Given the description of an element on the screen output the (x, y) to click on. 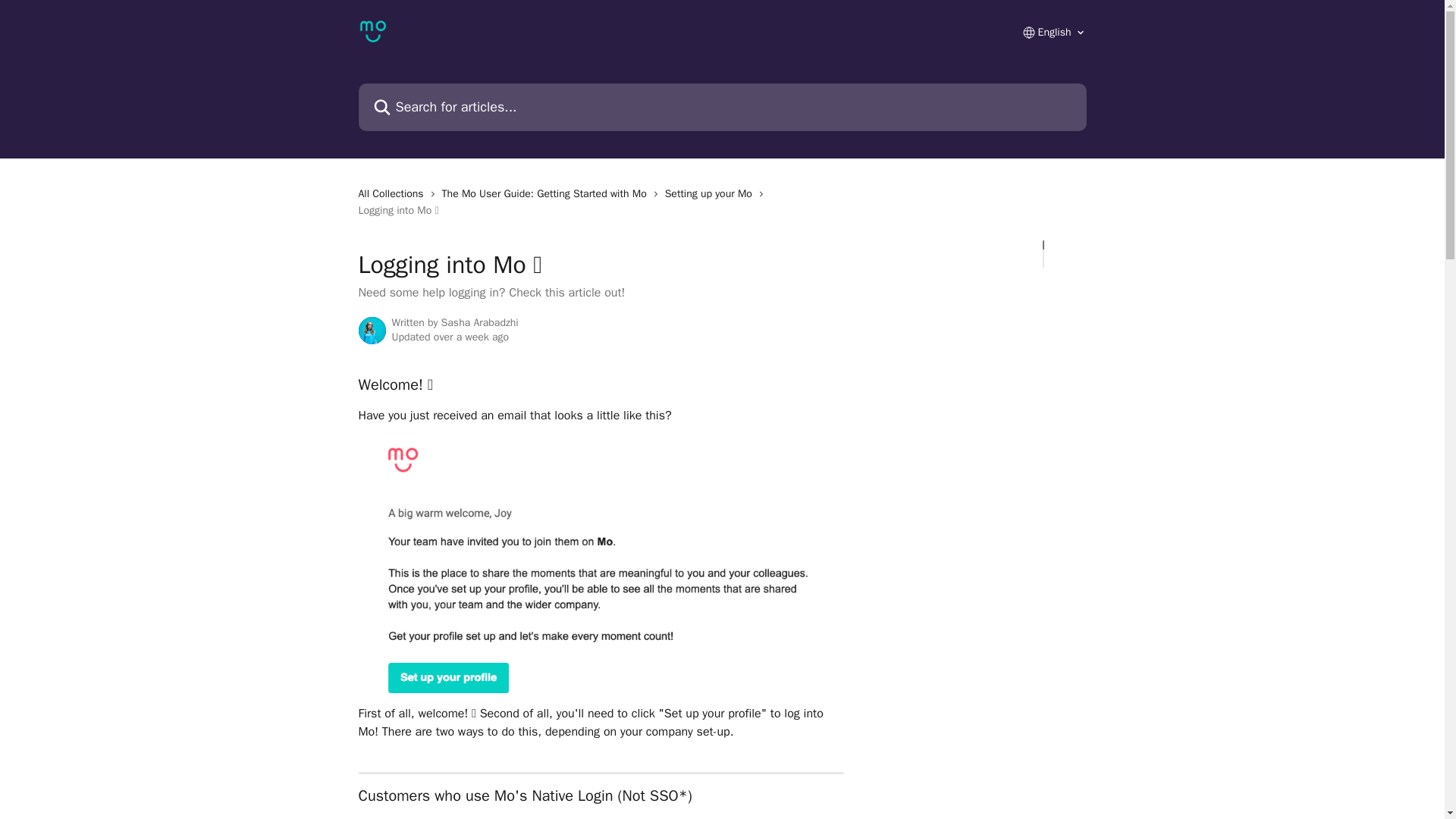
Setting up your Mo (711, 193)
The Mo User Guide: Getting Started with Mo (547, 193)
All Collections (393, 193)
